Given the description of an element on the screen output the (x, y) to click on. 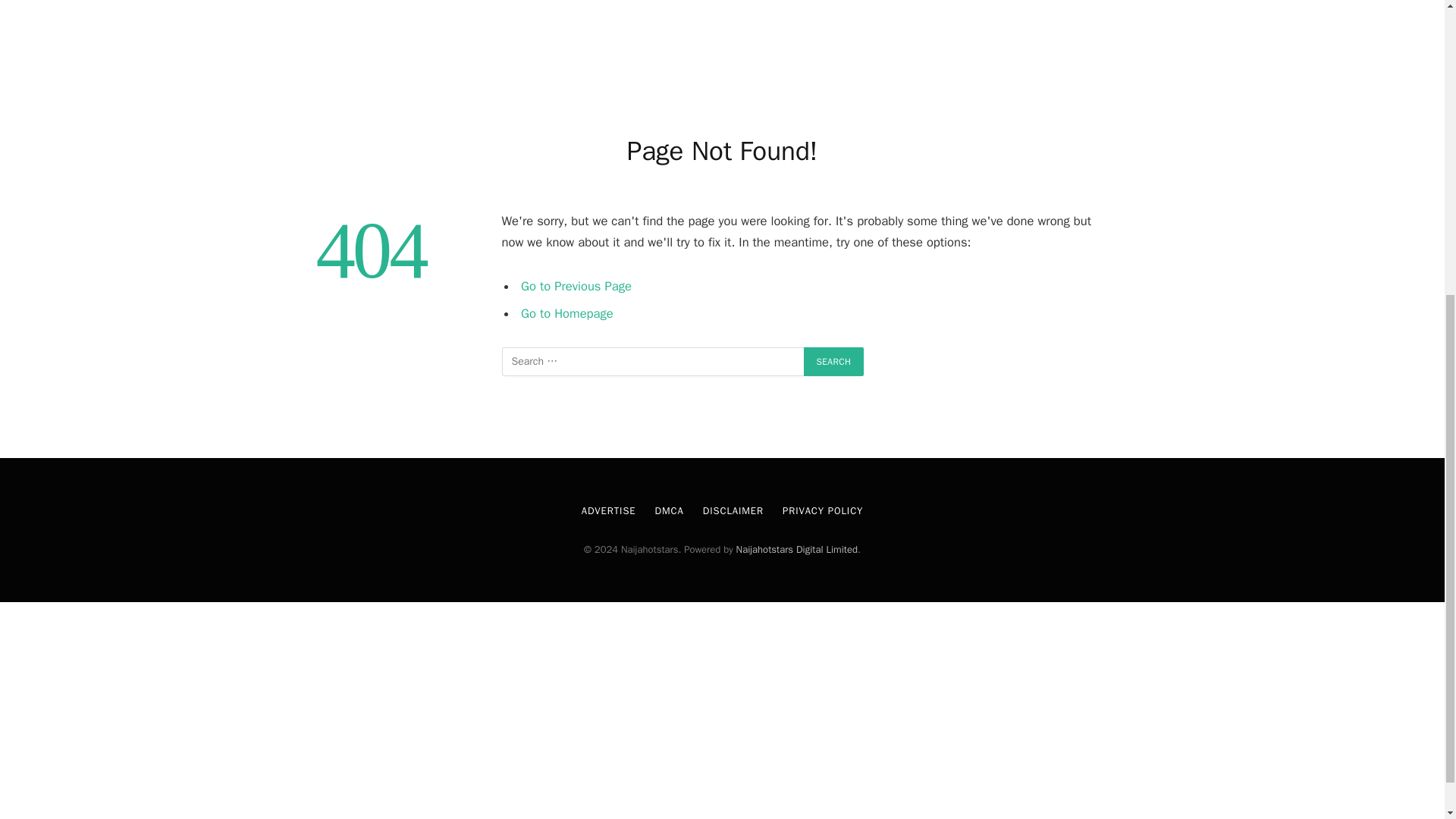
Search (833, 361)
DMCA (669, 510)
Search (833, 361)
DISCLAIMER (732, 510)
Search (833, 361)
Go to Previous Page (576, 286)
ADVERTISE (608, 510)
Go to Homepage (566, 312)
